Given the description of an element on the screen output the (x, y) to click on. 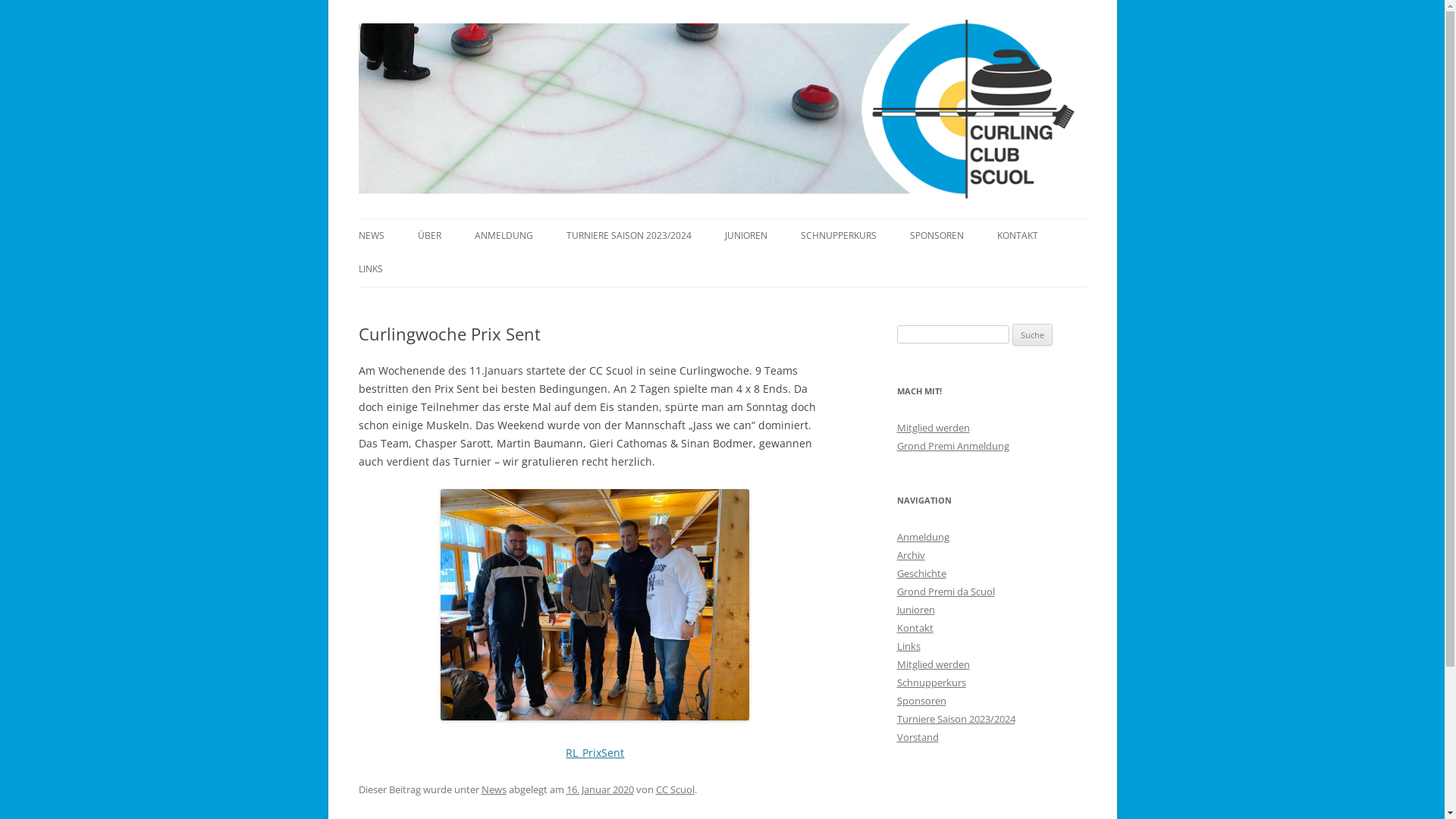
Vorstand Element type: text (917, 736)
LINKS Element type: text (369, 268)
Grond Premi Anmeldung Element type: text (952, 445)
Kontakt Element type: text (914, 627)
Zum Inhalt springen Element type: text (773, 223)
Turniere Saison 2023/2024 Element type: text (955, 718)
RL_PrixSent Element type: text (594, 752)
Mitglied werden Element type: text (932, 427)
SCHNUPPERKURS Element type: text (838, 235)
SPONSOREN Element type: text (936, 235)
Junioren Element type: text (915, 609)
ANMELDUNG Element type: text (503, 235)
Mitglied werden Element type: text (932, 664)
Geschichte Element type: text (920, 573)
NEWS Element type: text (370, 235)
Sponsoren Element type: text (920, 700)
JUNIOREN Element type: text (745, 235)
Links Element type: text (907, 645)
Archiv Element type: text (910, 554)
Suche Element type: text (1032, 334)
News Element type: text (492, 789)
16. Januar 2020 Element type: text (599, 789)
Anmeldung Element type: text (922, 536)
Grond Premi da Scuol Element type: text (945, 591)
CC Scuol Element type: text (674, 789)
TURNIERE SAISON 2023/2024 Element type: text (627, 235)
KONTAKT Element type: text (1016, 235)
Schnupperkurs Element type: text (930, 682)
